Given the description of an element on the screen output the (x, y) to click on. 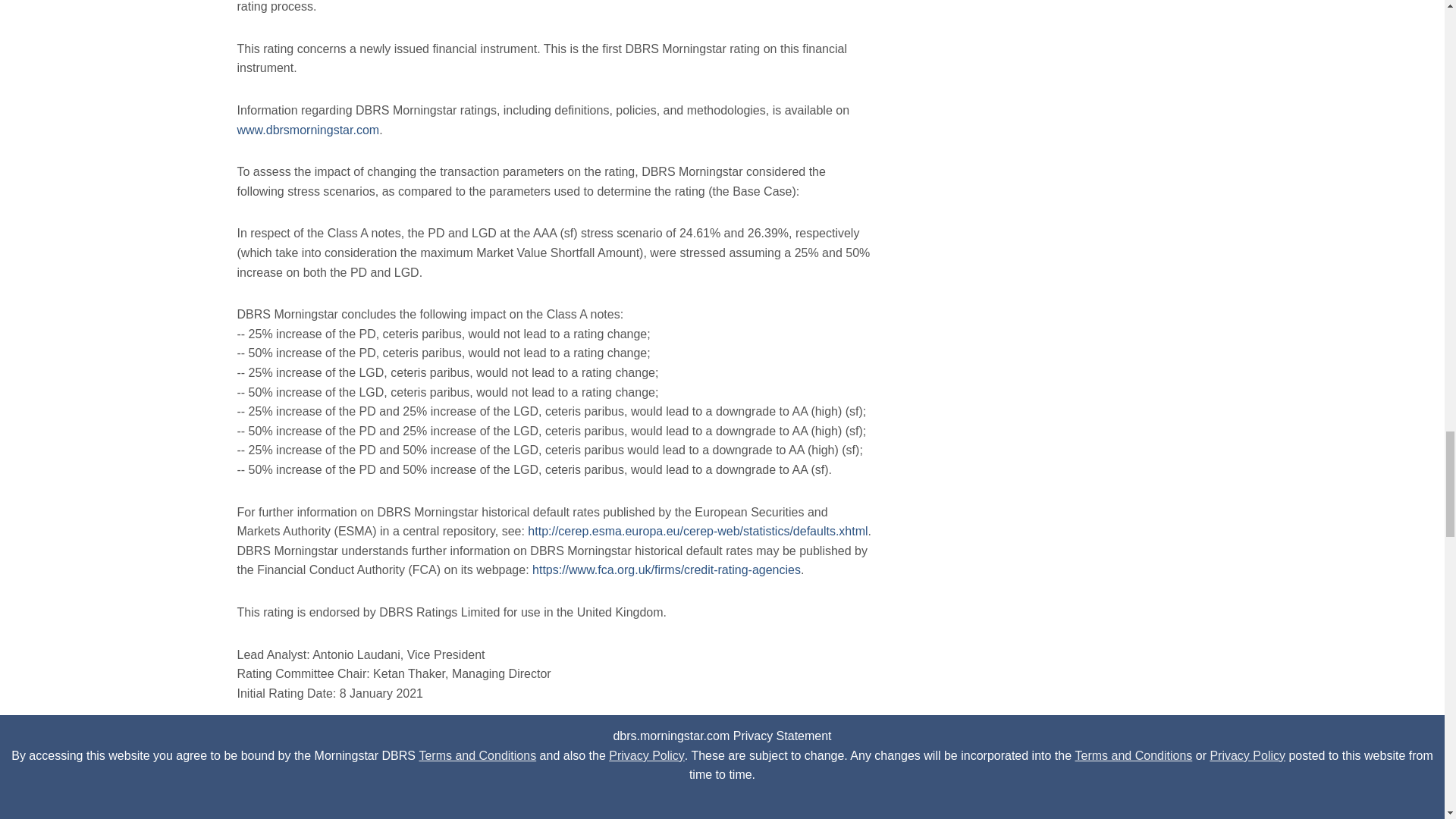
www.dbrsmorningstar.com (306, 129)
